Given the description of an element on the screen output the (x, y) to click on. 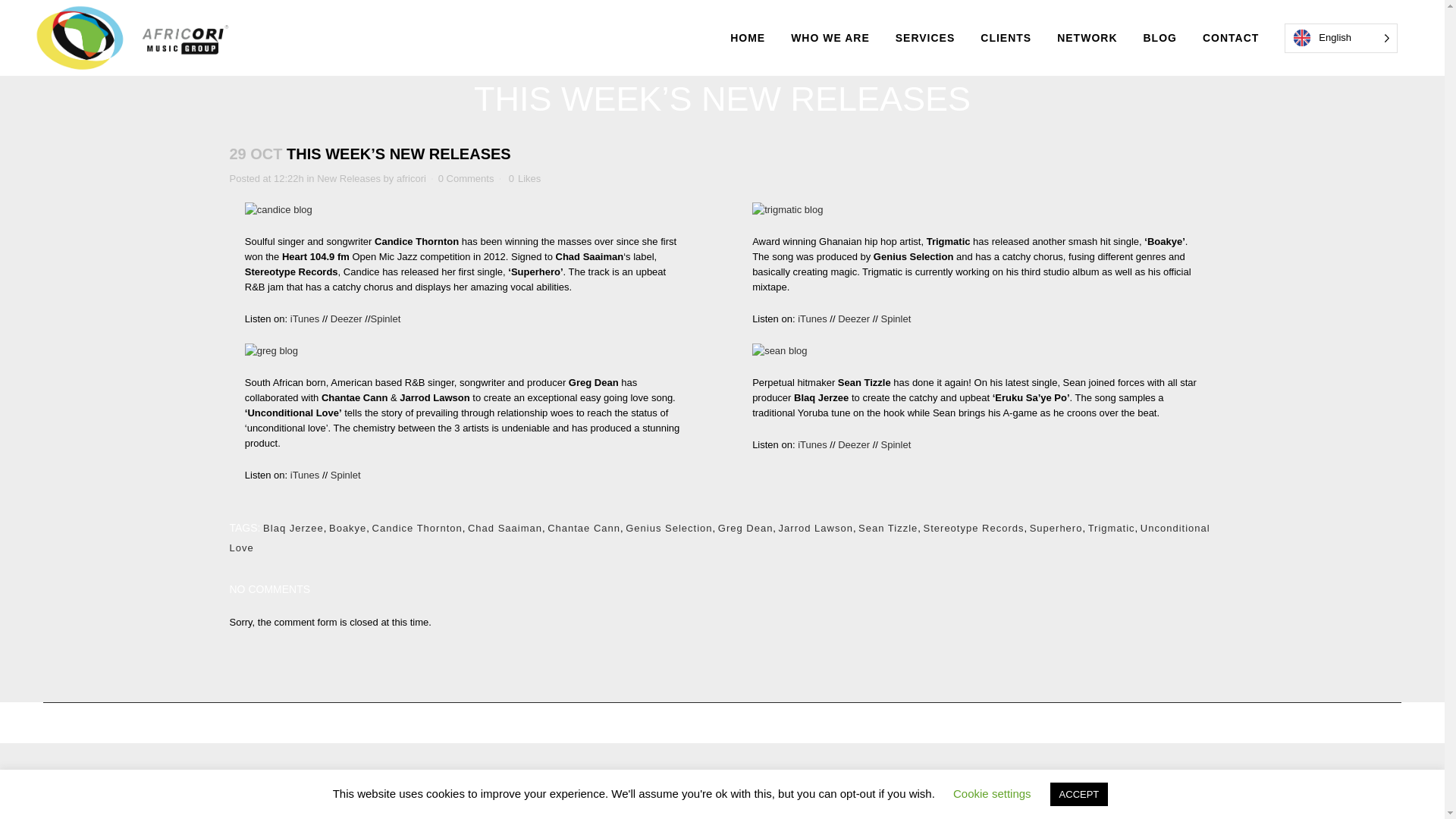
Spinlet (895, 444)
iTunes (812, 318)
Spinlet (345, 474)
Deezer (853, 318)
New Releases (348, 178)
iTunes (304, 318)
Spinlet (386, 318)
WHO WE ARE (829, 38)
NETWORK (1086, 38)
Boakye (347, 527)
SERVICES (925, 38)
0 Likes (524, 178)
CONTACT (1230, 38)
iTunes (812, 444)
Deezer (346, 318)
